Given the description of an element on the screen output the (x, y) to click on. 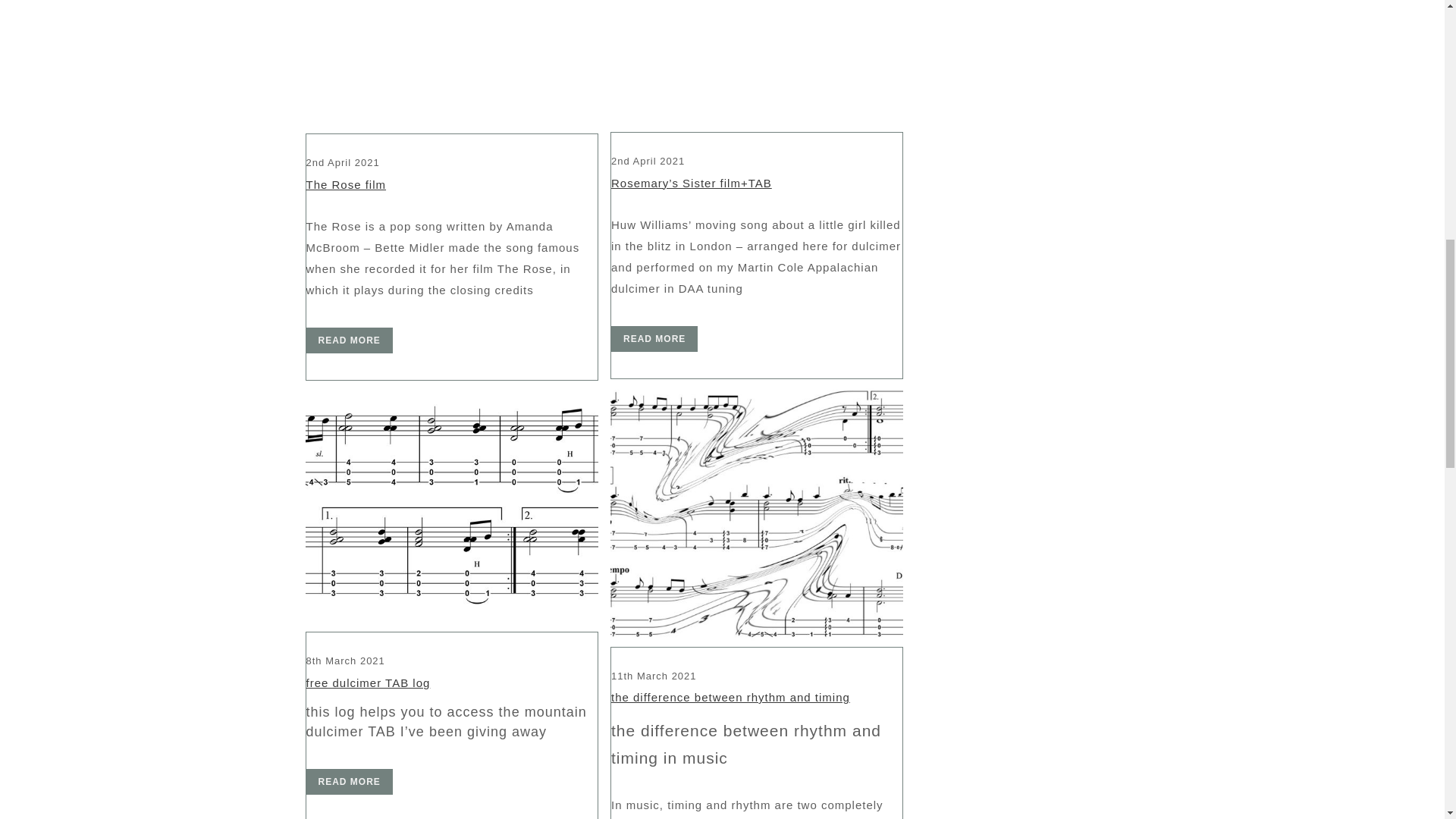
READ MORE (349, 781)
READ MORE (654, 338)
free dulcimer TAB log (450, 507)
READ MORE (349, 339)
The Rose film (346, 184)
the difference between rhythm and timing (756, 514)
the difference between rhythm and timing (730, 697)
free dulcimer TAB log (367, 682)
